Given the description of an element on the screen output the (x, y) to click on. 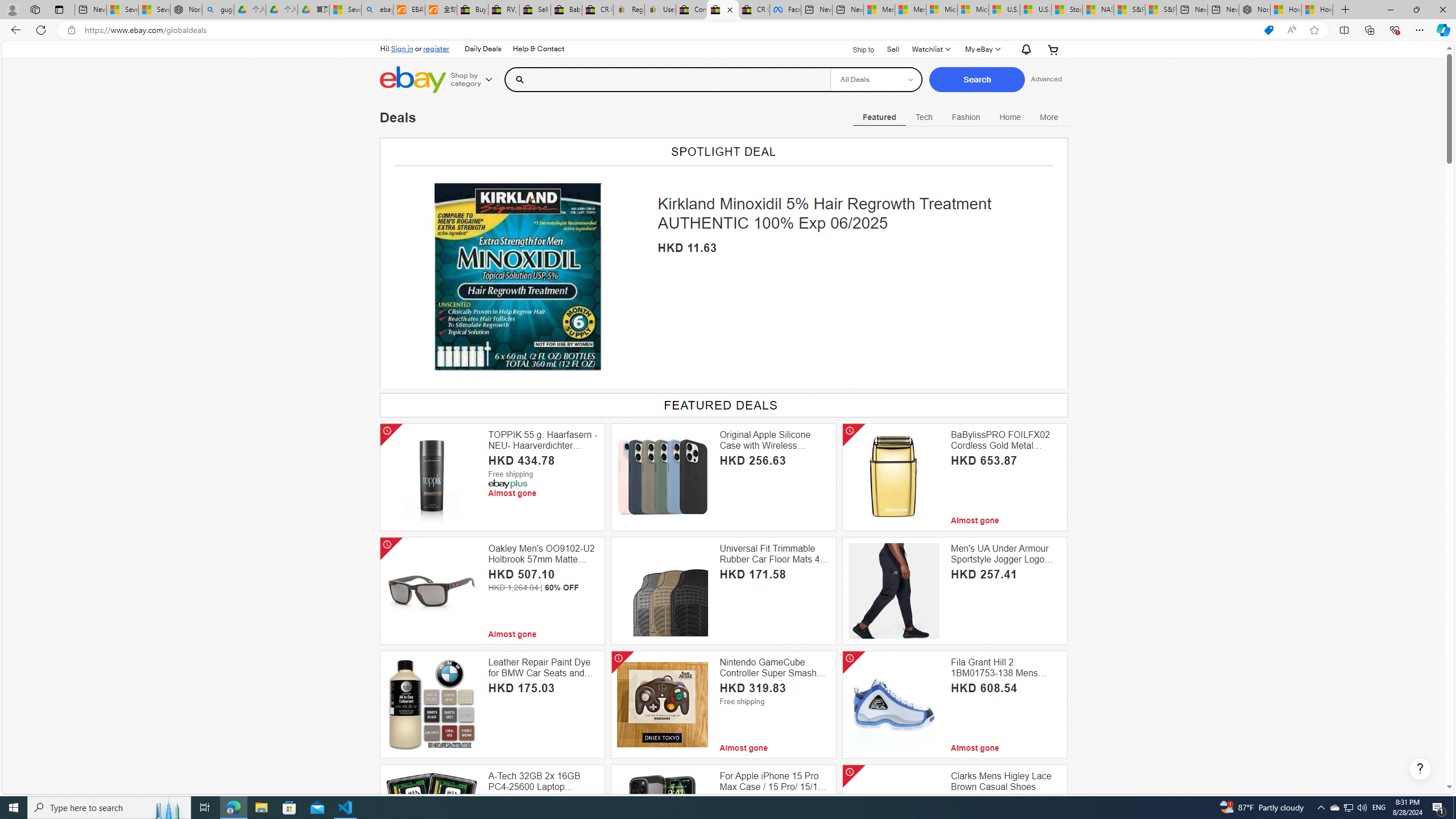
Deals (398, 117)
Shop by category (474, 79)
WatchlistExpand Watch List (930, 49)
ebay - Search (376, 9)
Read aloud this page (Ctrl+Shift+U) (1291, 29)
Advanced Search (1046, 78)
Class: navigation-desktop-with-flyout selected open-left (879, 114)
